Given the description of an element on the screen output the (x, y) to click on. 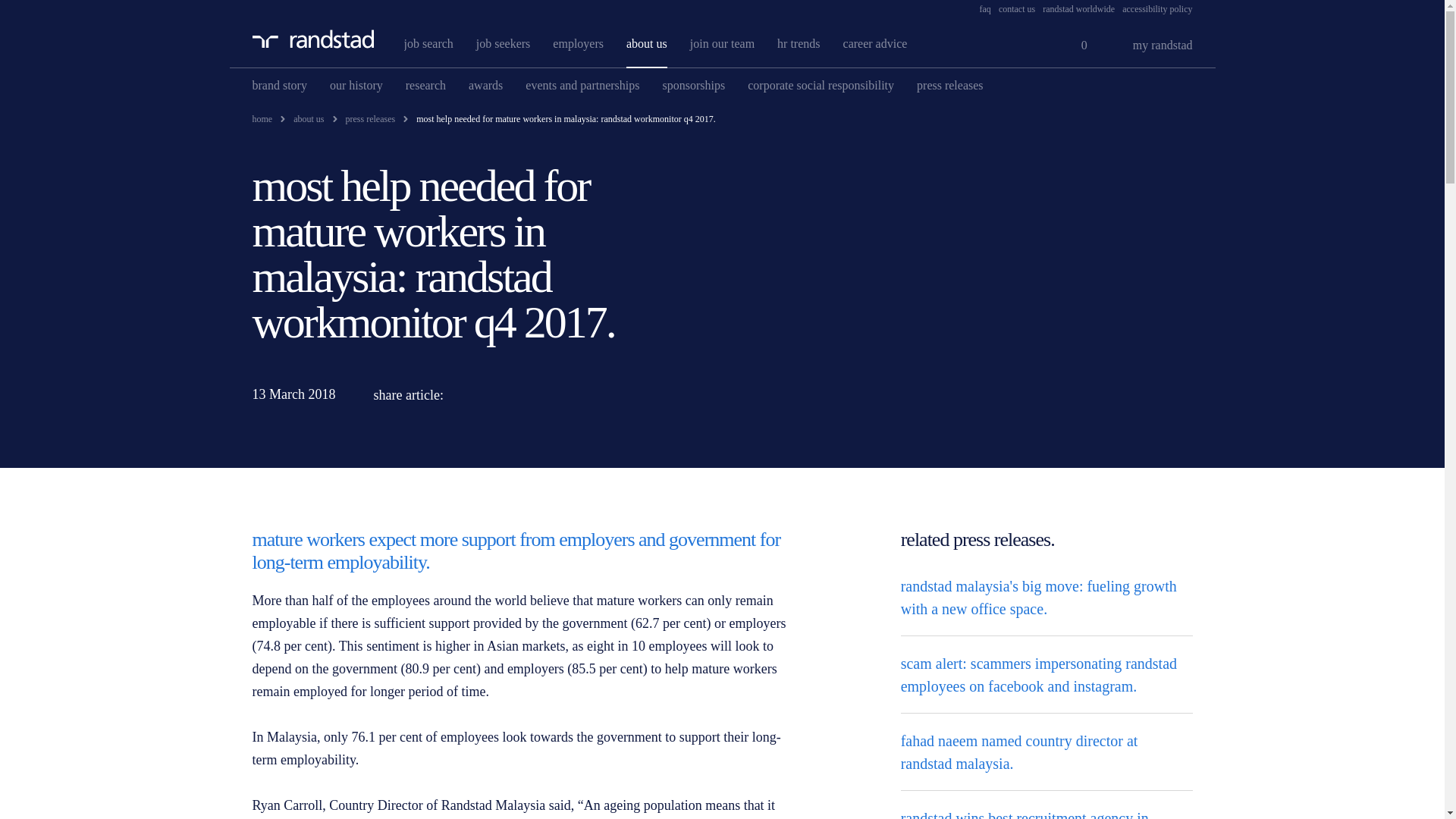
career advice (875, 42)
share this article on facebook (541, 395)
randstad worldwide (1078, 9)
awards (485, 84)
accessibility policy (1157, 9)
hr trends (798, 42)
home (261, 118)
job seekers (503, 42)
employers (578, 42)
randstad (311, 38)
